Given the description of an element on the screen output the (x, y) to click on. 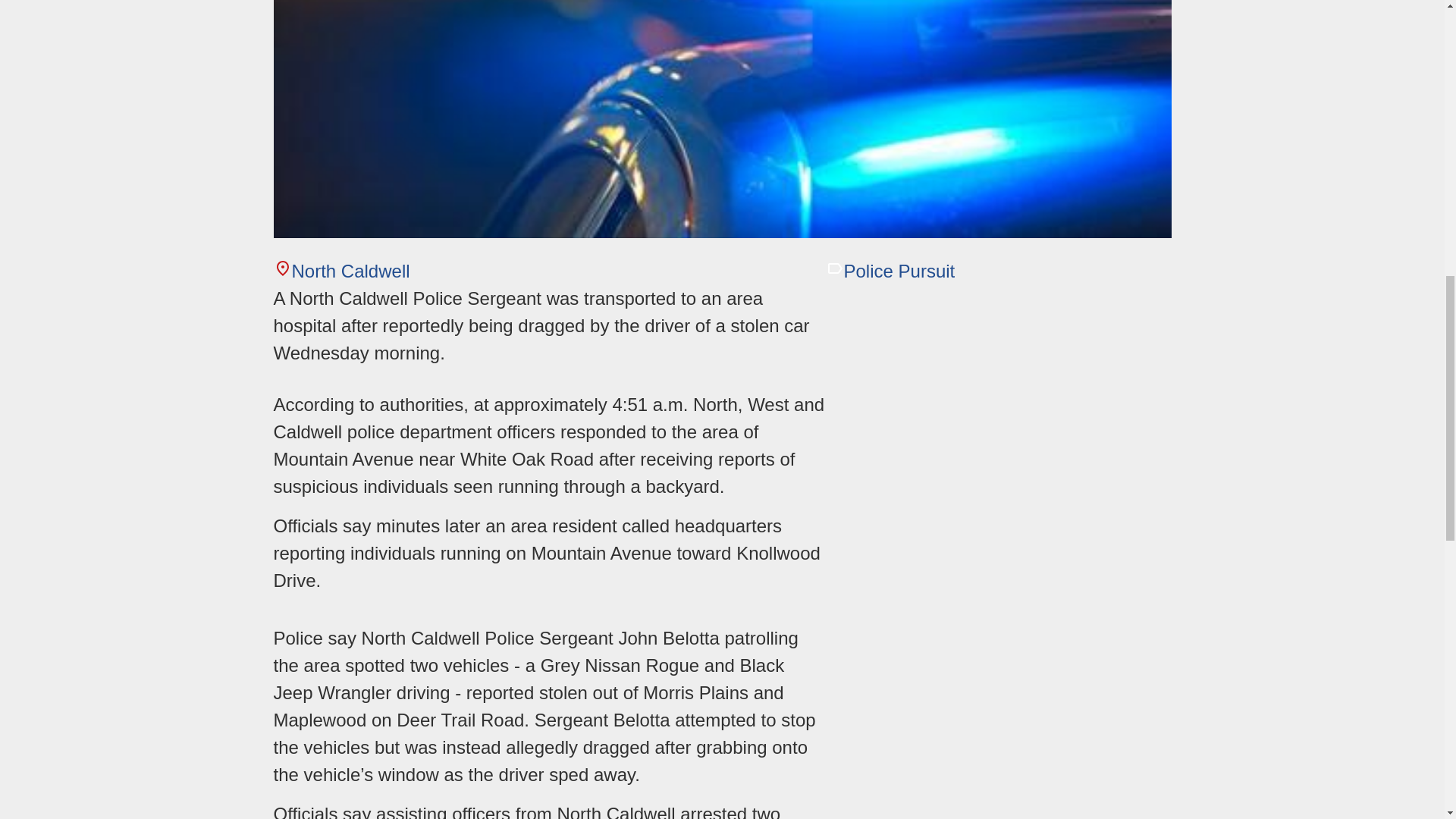
North Caldwell (341, 271)
Police Pursuit (890, 271)
